Given the description of an element on the screen output the (x, y) to click on. 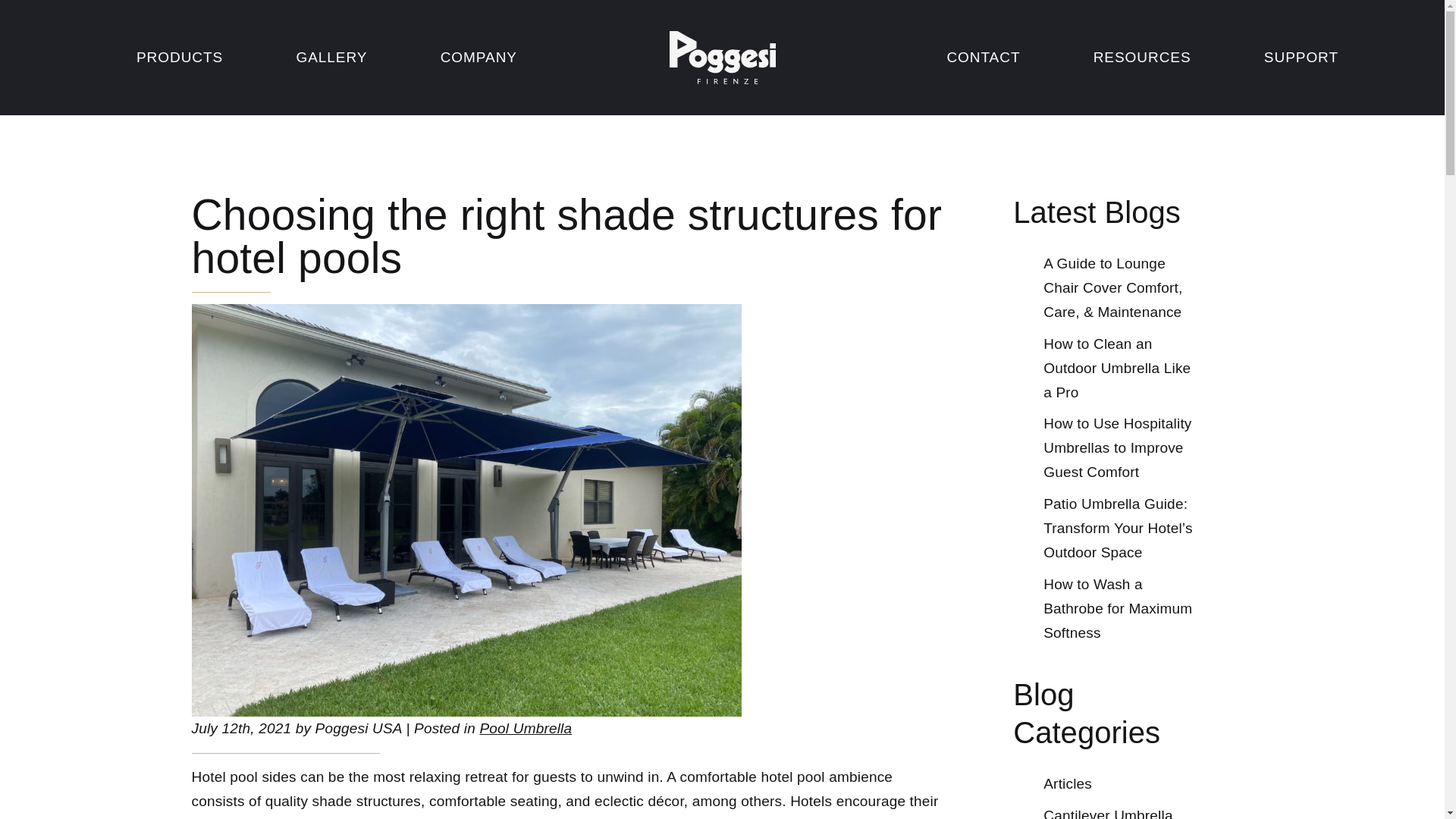
Pool Umbrella (525, 728)
Cantilever Umbrella (1107, 812)
How to Use Hospitality Umbrellas to Improve Guest Comfort (1117, 447)
Articles (1067, 783)
How to Clean an Outdoor Umbrella Like a Pro (1117, 368)
How to Wash a Bathrobe for Maximum Softness (1117, 608)
